Given the description of an element on the screen output the (x, y) to click on. 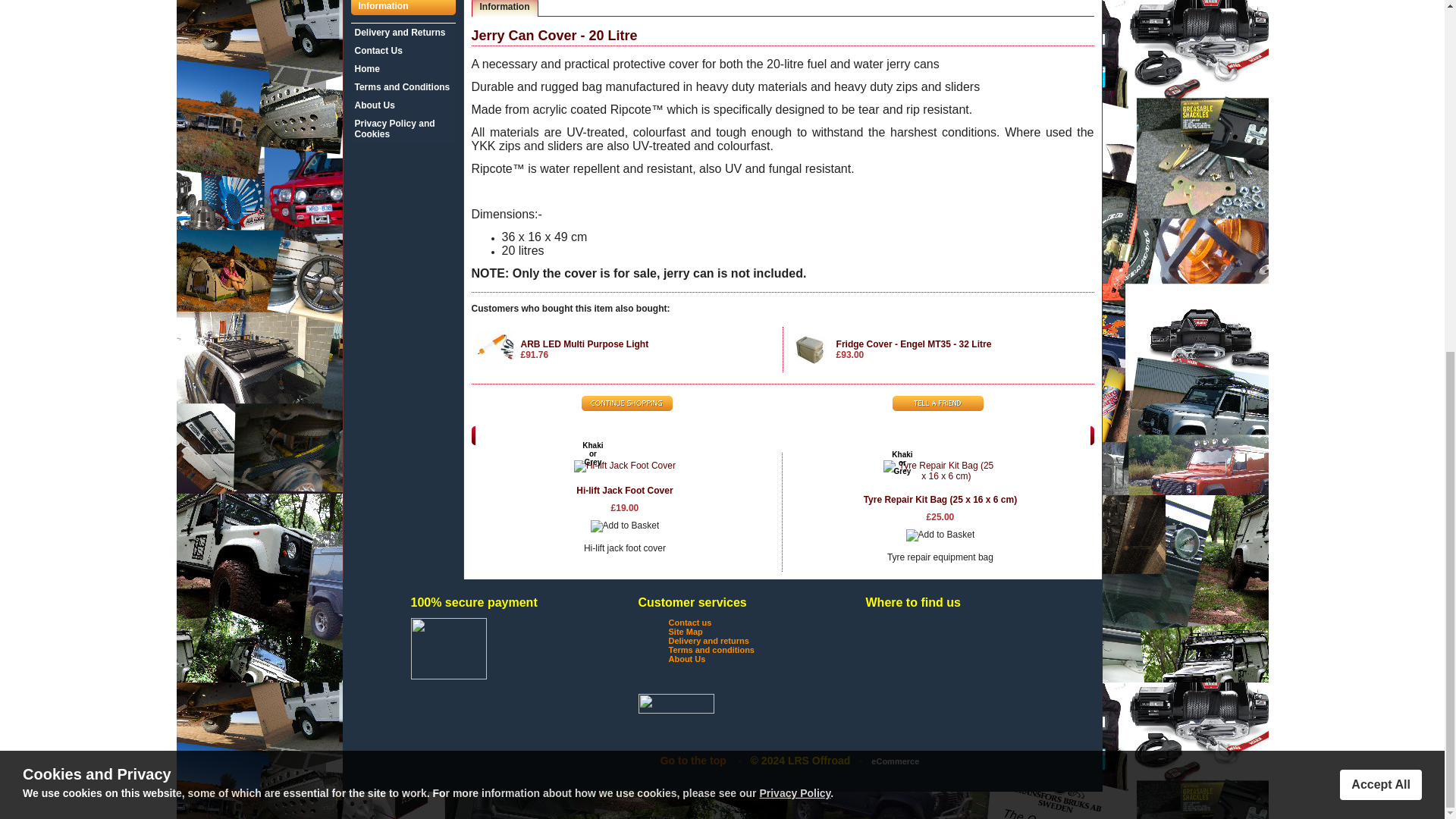
Information (504, 7)
Fridge Cover - Engel MT35 - 32 Litre (913, 344)
Hi-lift Jack Foot Cover (624, 490)
ARB LED Multi Purpose Light (583, 344)
